Given the description of an element on the screen output the (x, y) to click on. 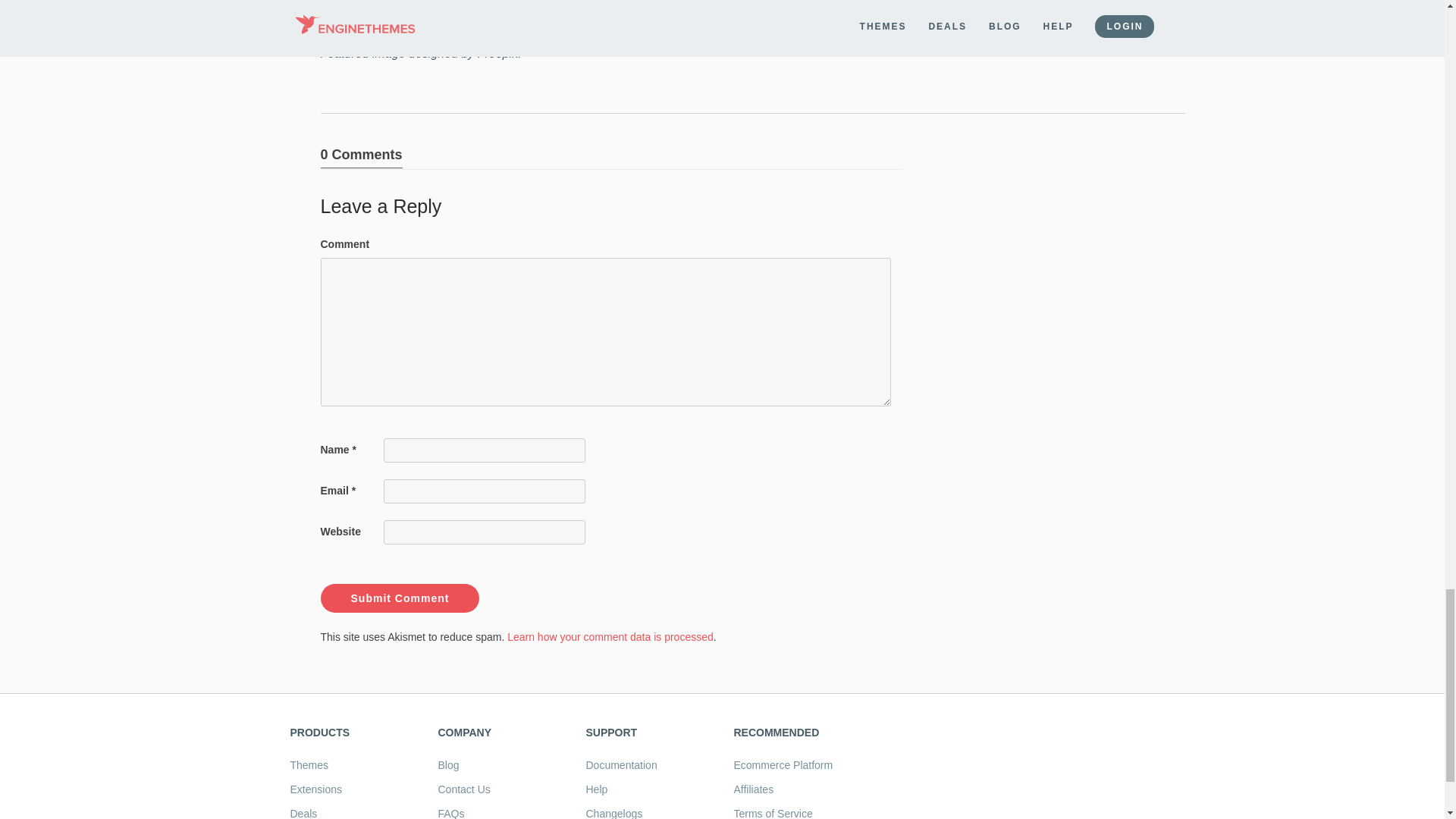
Documentation (620, 765)
Submit Comment (399, 597)
Terms of Service (772, 813)
Affiliates (753, 788)
View All Themes (309, 765)
Learn how your comment data is processed (609, 636)
Ecommerce Platform (782, 765)
Changelogs (613, 813)
Documentation (620, 765)
Help (596, 788)
